Given the description of an element on the screen output the (x, y) to click on. 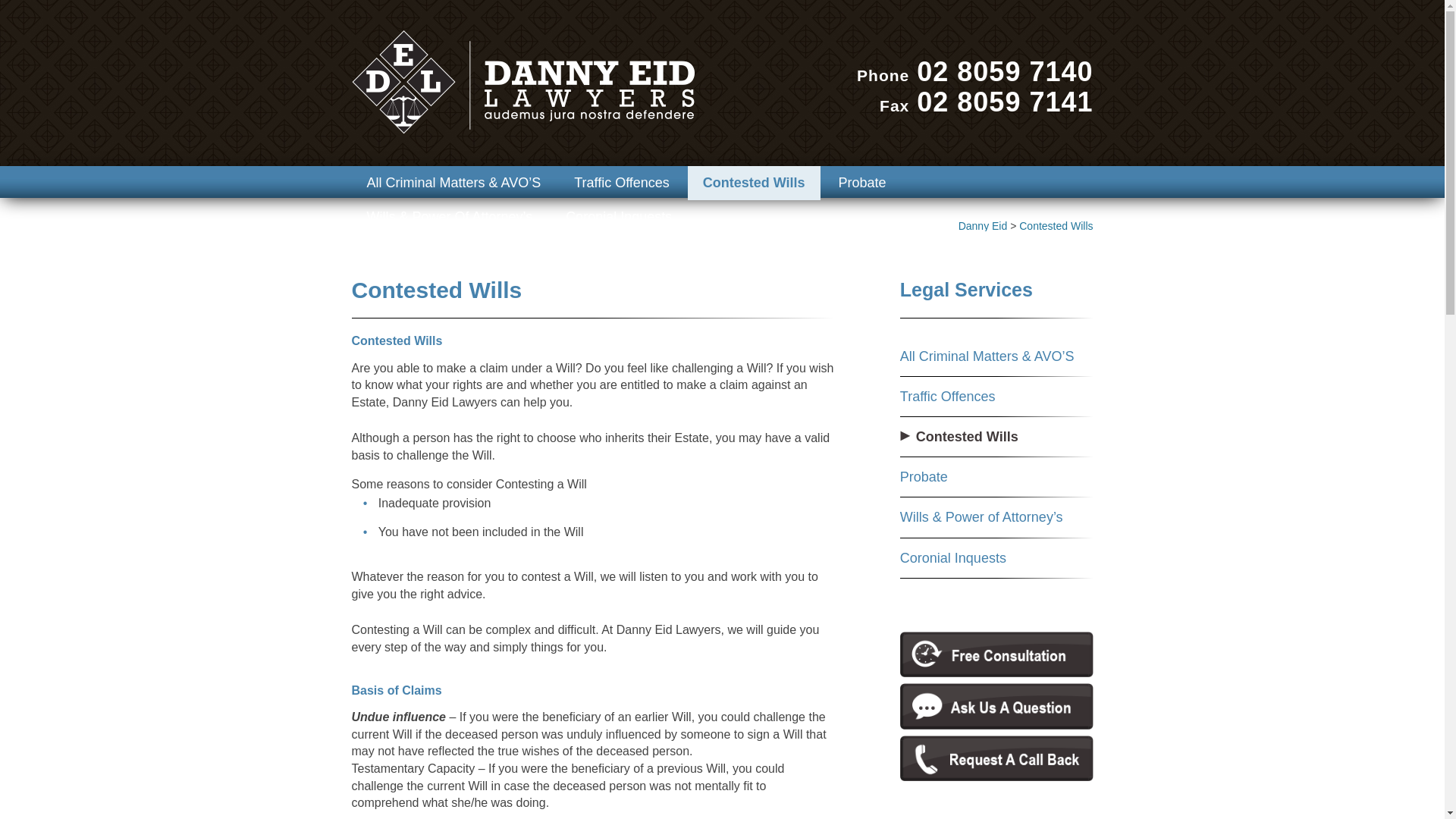
Probate Element type: text (861, 183)
Coronial Inquests Element type: text (618, 217)
Probate Element type: text (923, 476)
Danny Eid Element type: text (982, 225)
02 8059 7140 Element type: text (1004, 71)
Danny Eid homepage Element type: hover (522, 82)
02 8059 7141 Element type: text (1004, 101)
Traffic Offences Element type: text (621, 183)
Coronial Inquests Element type: text (953, 557)
Contested Wills Element type: text (967, 436)
Contested Wills Element type: text (1055, 225)
Contested Wills Element type: text (753, 183)
Traffic Offences Element type: text (947, 396)
